Given the description of an element on the screen output the (x, y) to click on. 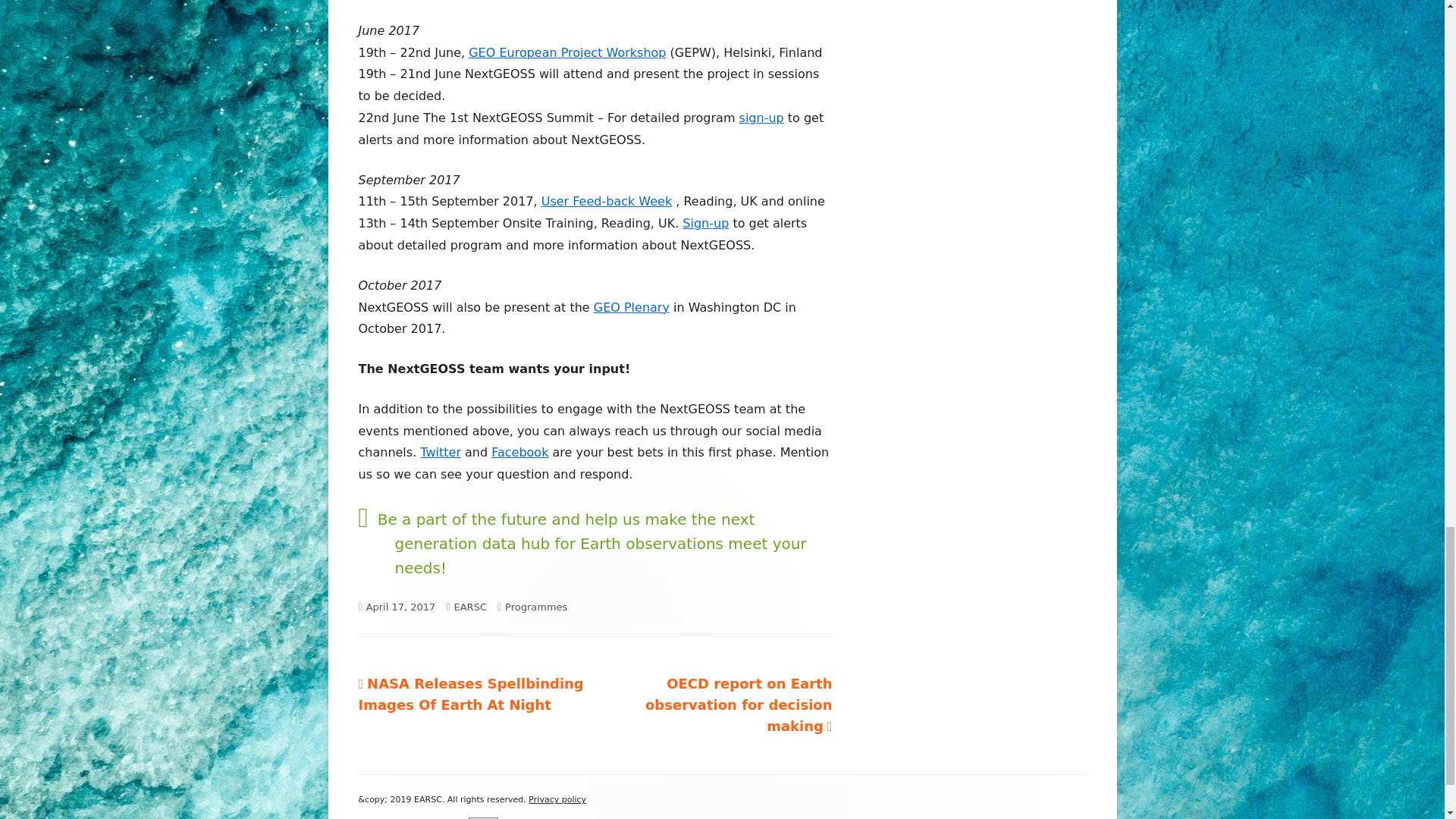
Twitter (440, 452)
April 17, 2017 (400, 606)
Sign-up (705, 223)
GEO Plenary (631, 307)
Facebook (520, 452)
User Feed-back Week (606, 201)
sign-up (761, 117)
EARSC (469, 606)
Programmes (536, 606)
